Given the description of an element on the screen output the (x, y) to click on. 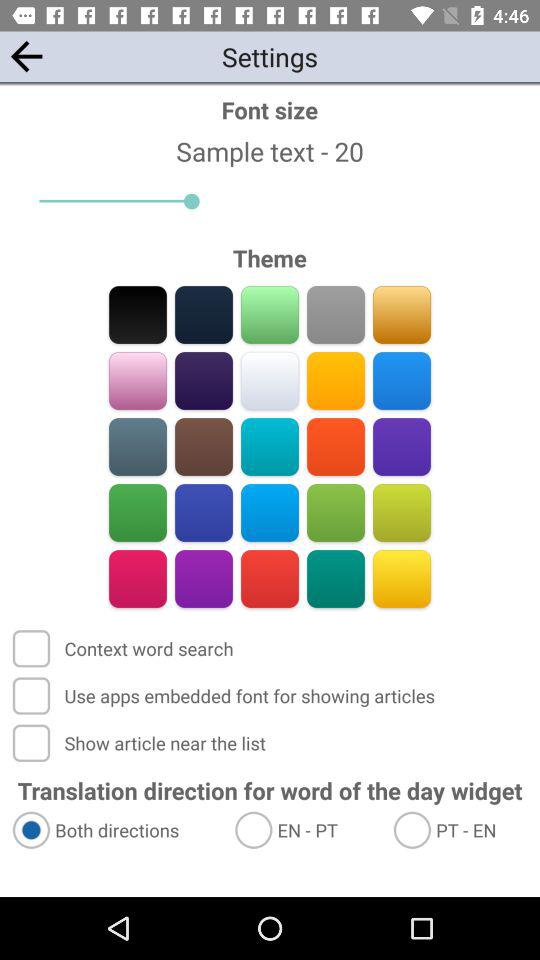
go back to the previous page (26, 56)
